Given the description of an element on the screen output the (x, y) to click on. 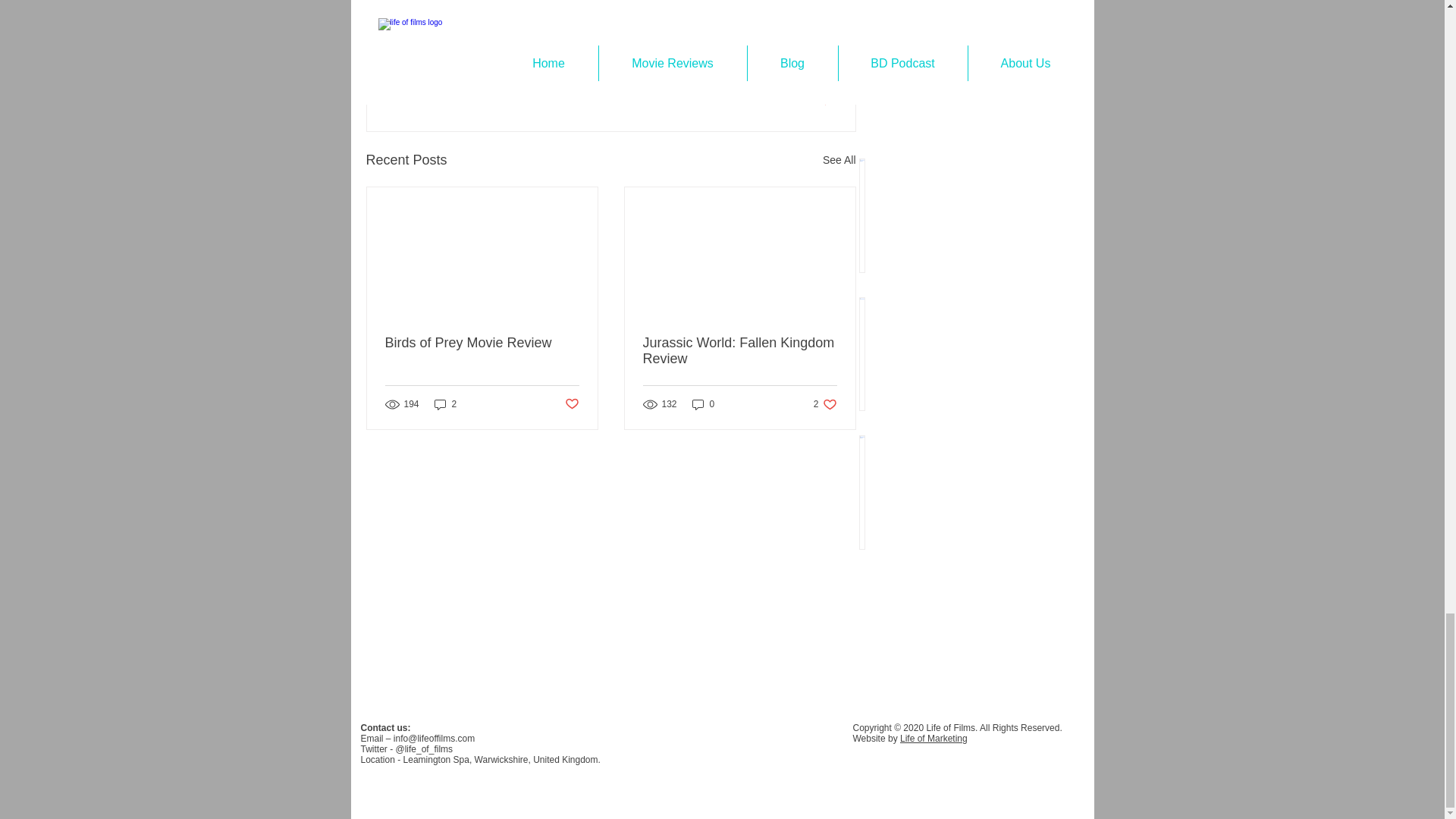
Post not marked as liked (823, 100)
2 (445, 404)
Birds of Prey Movie Review (825, 404)
Post not marked as liked (482, 342)
Jurassic World: Fallen Kingdom Review (571, 404)
Movie Review (740, 350)
0 (798, 55)
See All (703, 404)
